Given the description of an element on the screen output the (x, y) to click on. 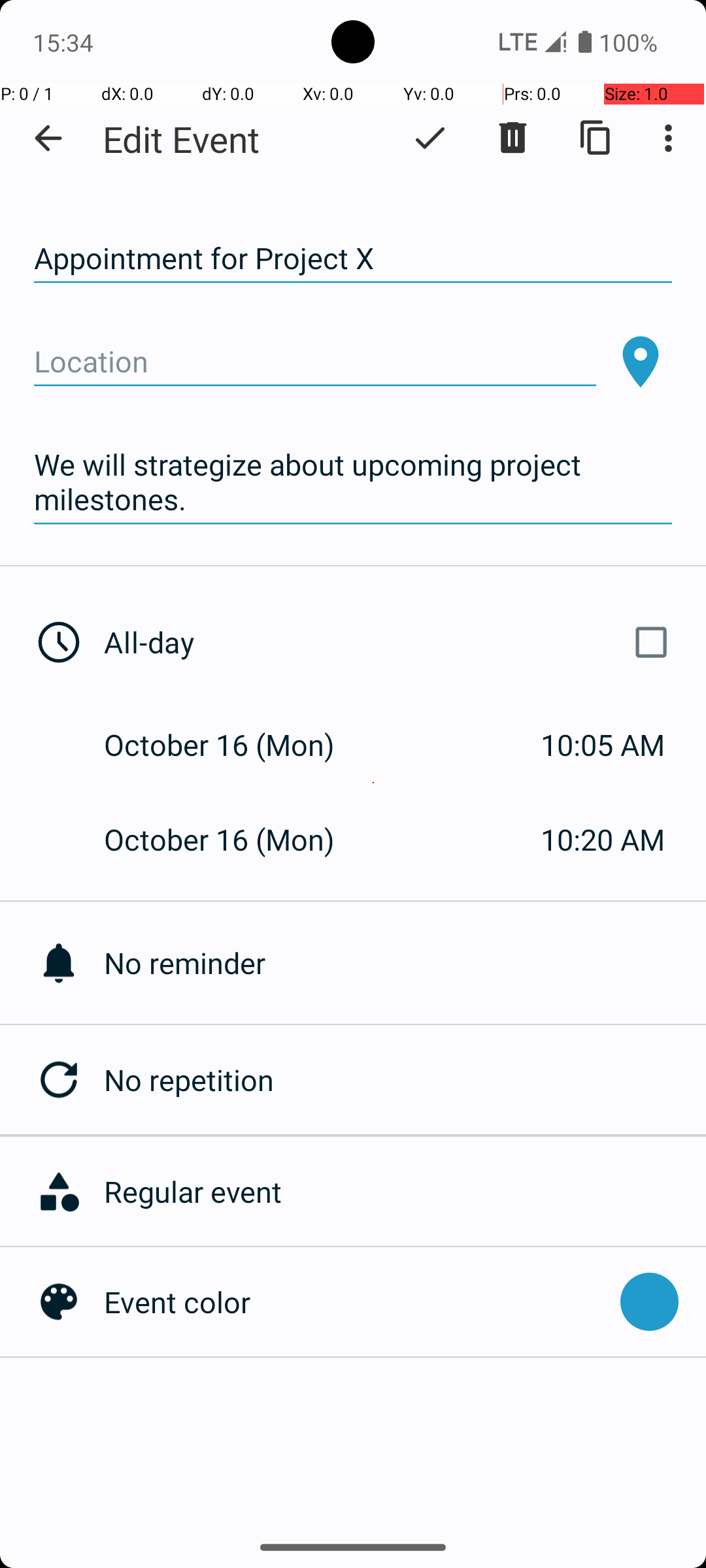
We will strategize about upcoming project milestones. Element type: android.widget.EditText (352, 482)
10:05 AM Element type: android.widget.TextView (602, 744)
10:20 AM Element type: android.widget.TextView (602, 838)
